Given the description of an element on the screen output the (x, y) to click on. 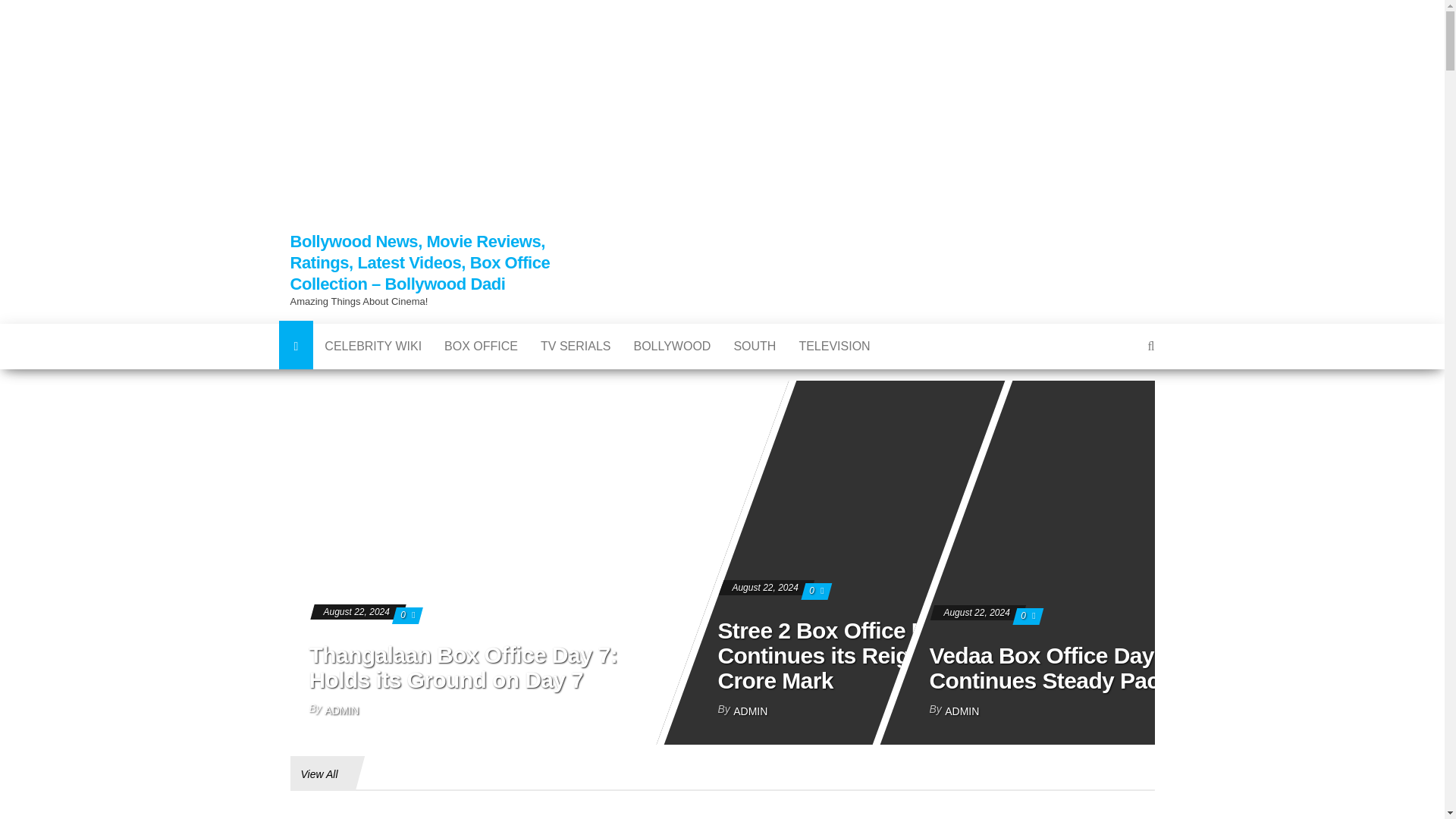
TELEVISION (833, 346)
Bollywood (671, 346)
TV Serials (575, 346)
Vedaa Box Office Day 7: Continues Steady Pace on Day 7 (1098, 667)
ADMIN (341, 710)
Thangalaan Box Office Day 7: Holds its Ground on Day 7 (462, 667)
Thangalaan Box Office Day 7: Holds its Ground on Day 7 (721, 662)
View All (318, 773)
BOX OFFICE (480, 346)
